Given the description of an element on the screen output the (x, y) to click on. 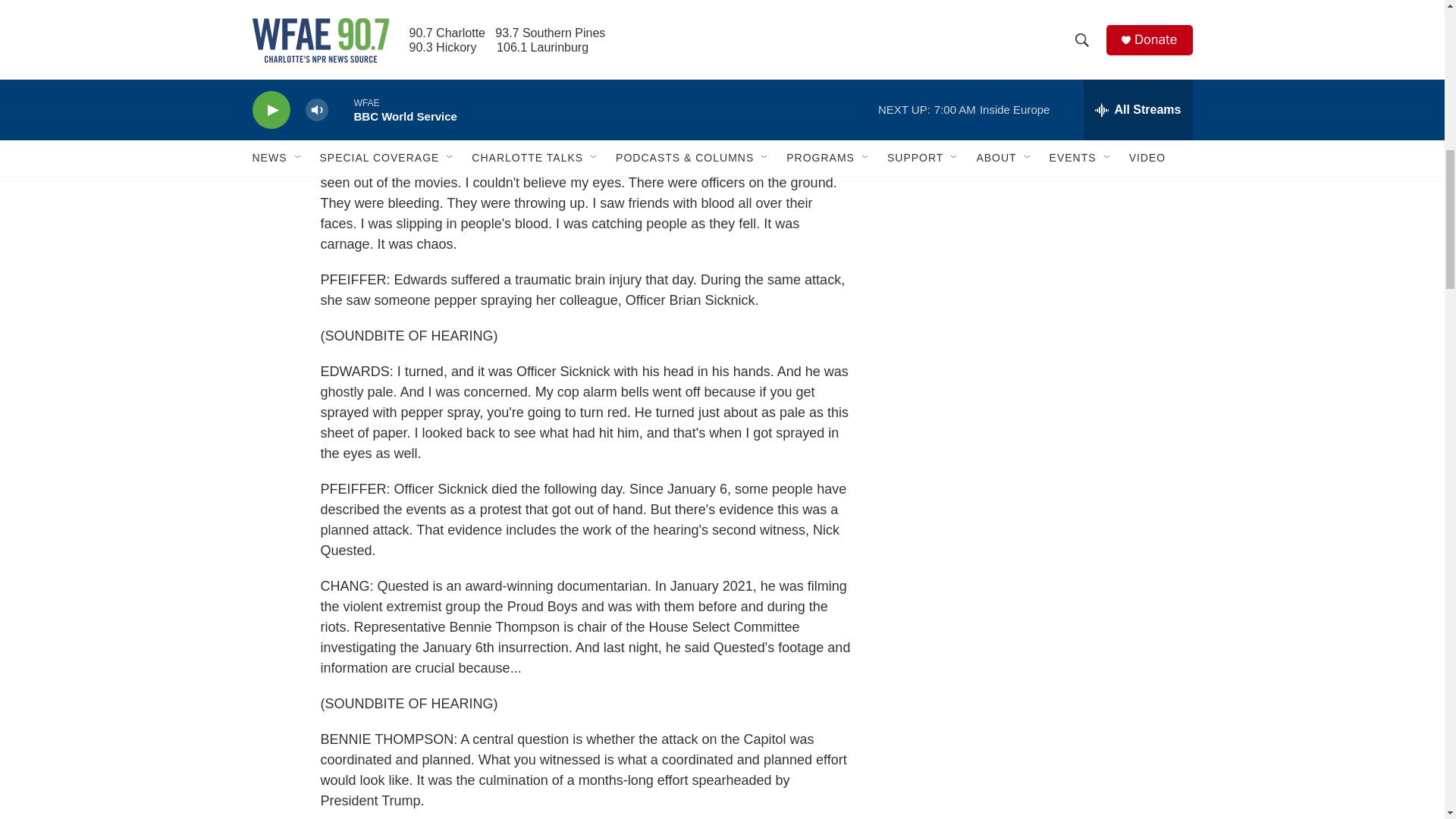
3rd party ad content (1062, 464)
3rd party ad content (1062, 244)
